Given the description of an element on the screen output the (x, y) to click on. 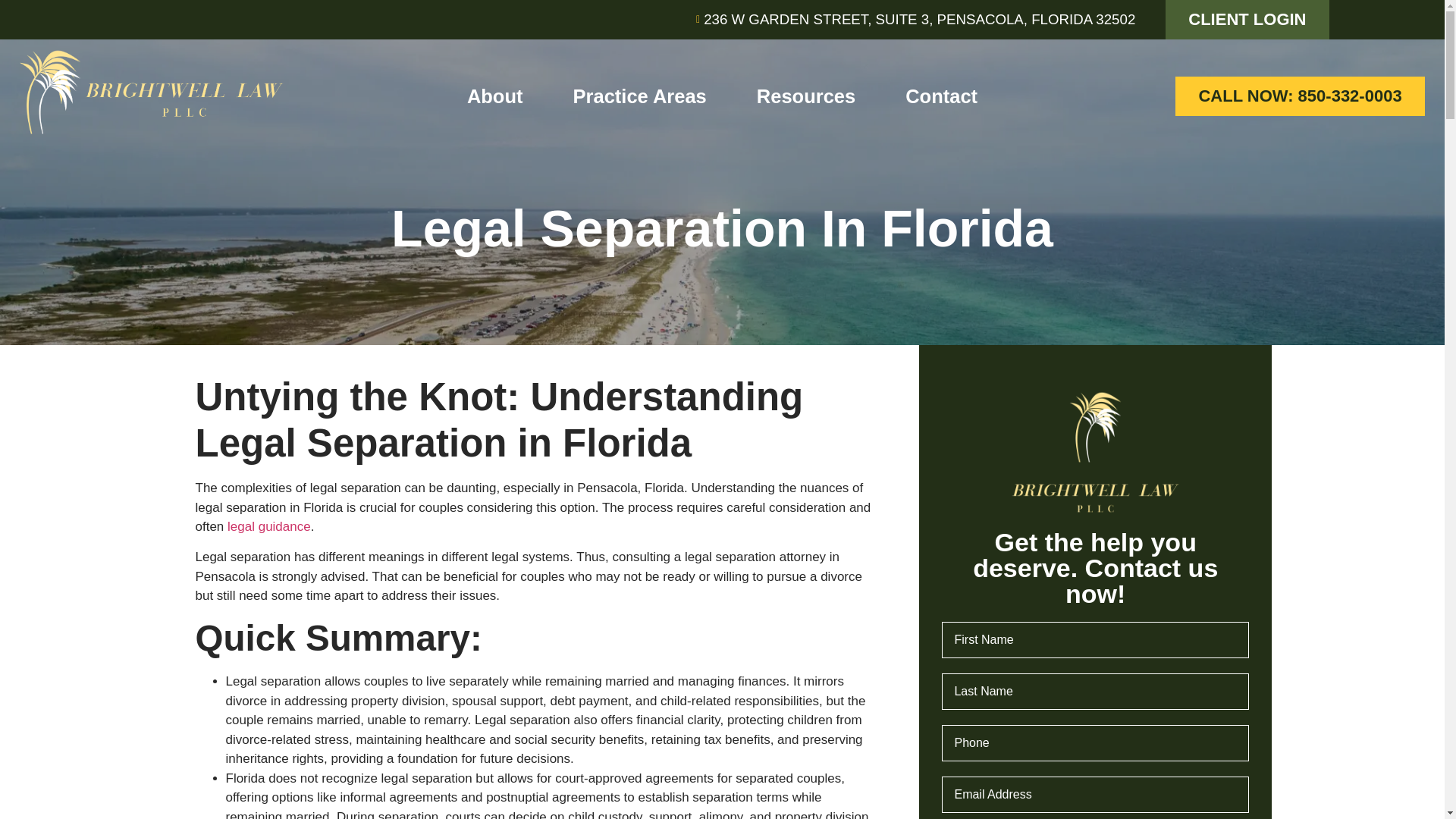
About (494, 95)
Practice Areas (639, 95)
CLIENT LOGIN (1246, 19)
236 W GARDEN STREET, SUITE 3, PENSACOLA, FLORIDA 32502 (911, 19)
